Given the description of an element on the screen output the (x, y) to click on. 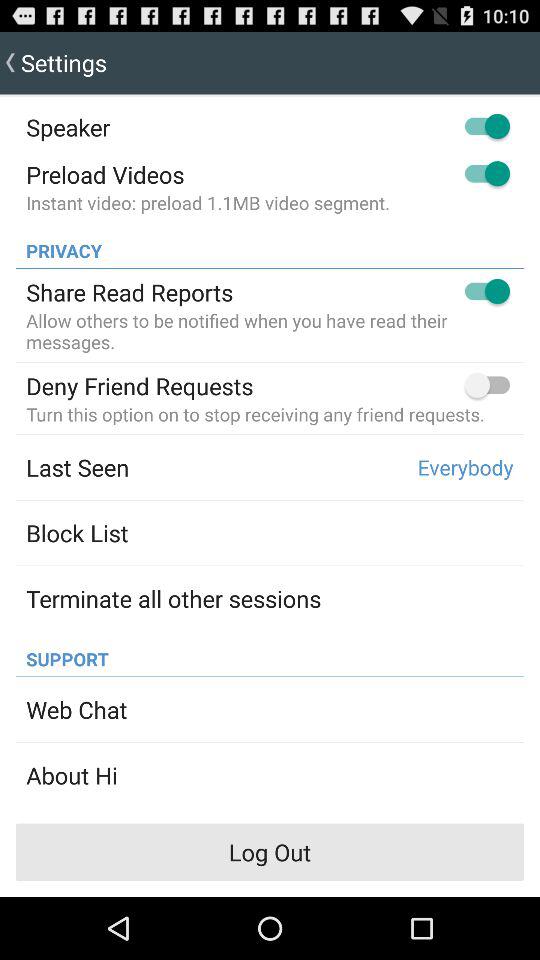
select app to the left of everybody (77, 467)
